Given the description of an element on the screen output the (x, y) to click on. 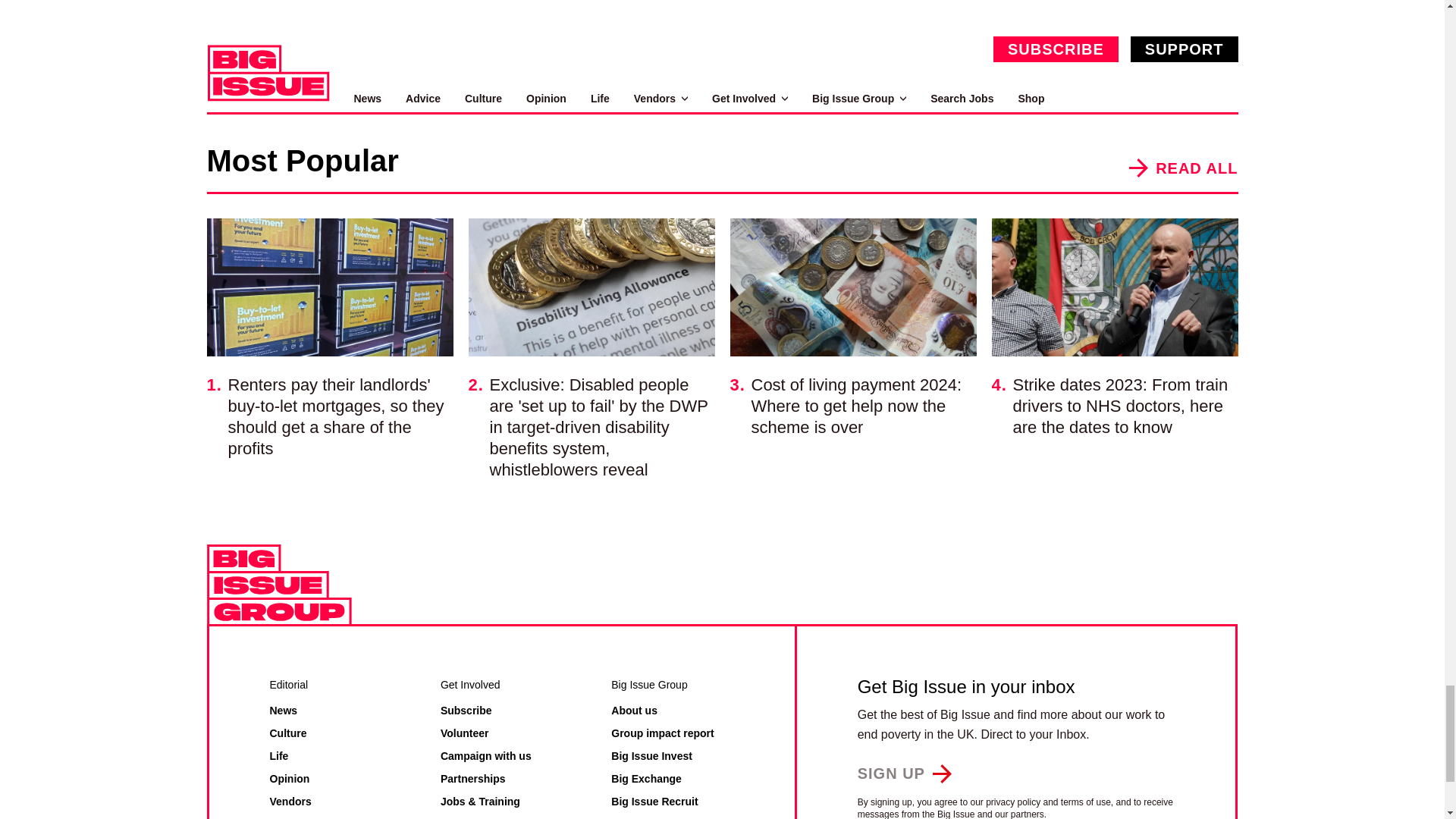
Button (904, 772)
